Given the description of an element on the screen output the (x, y) to click on. 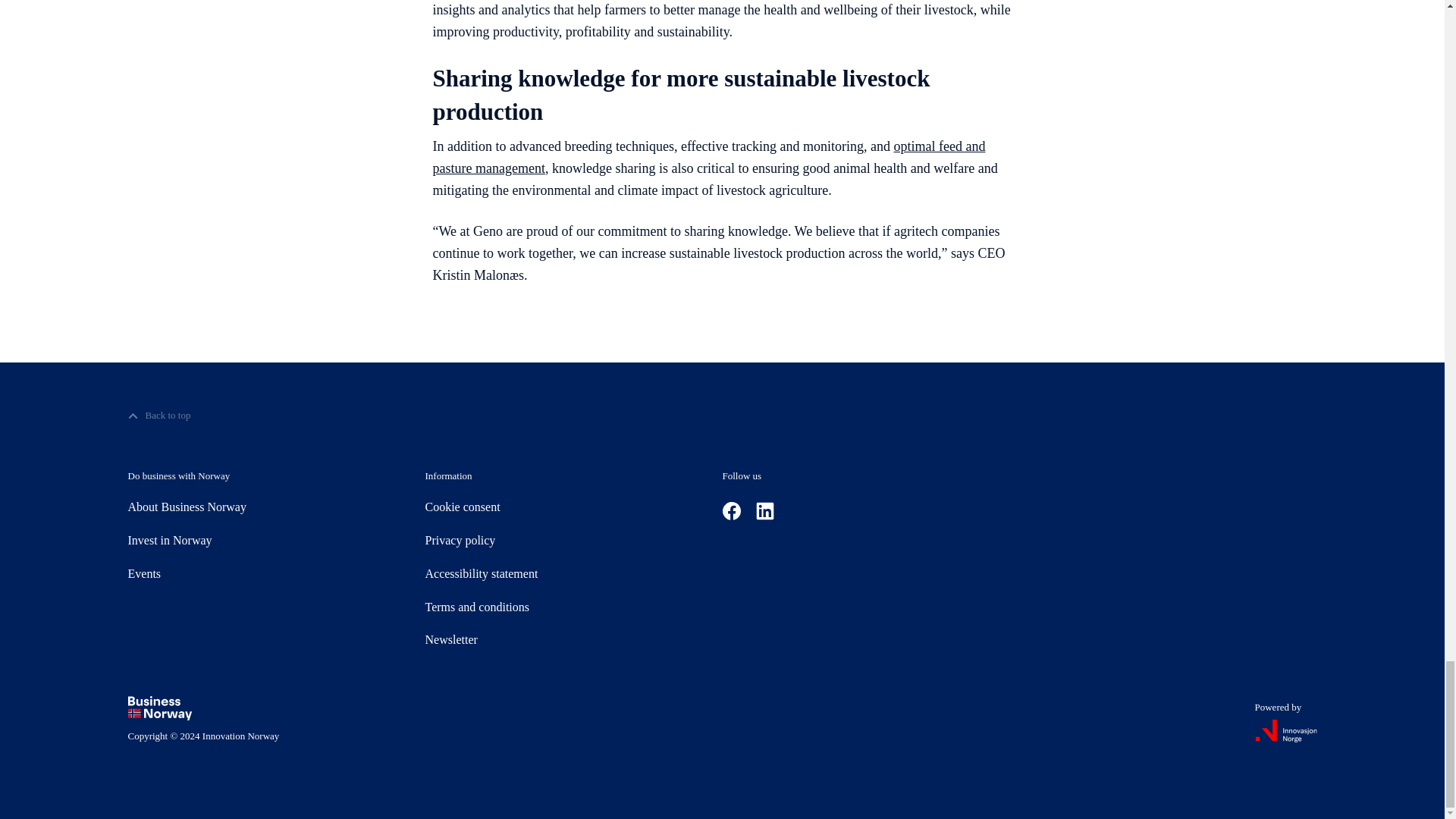
Invest in Norway (169, 540)
Newsletter (451, 639)
optimal feed and pasture management (708, 157)
Cookie consent (462, 506)
Events (144, 573)
Privacy policy (460, 540)
Accessibility statement (481, 573)
Terms and conditions (477, 607)
Back to top (159, 415)
About Business Norway (187, 506)
